Given the description of an element on the screen output the (x, y) to click on. 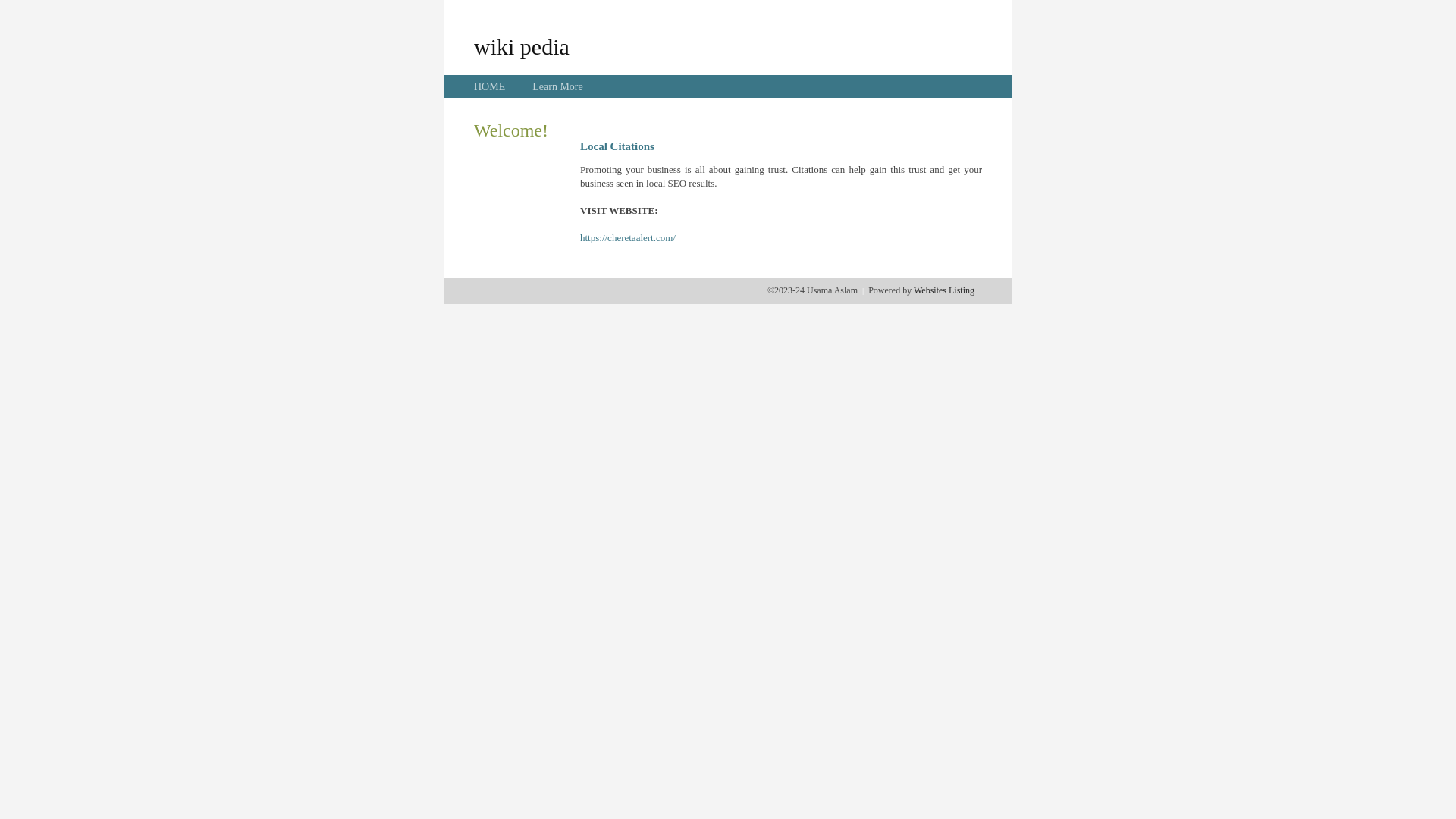
HOME Element type: text (489, 86)
Learn More Element type: text (557, 86)
Websites Listing Element type: text (943, 290)
wiki pedia Element type: text (521, 46)
https://cheretaalert.com/ Element type: text (627, 237)
